Given the description of an element on the screen output the (x, y) to click on. 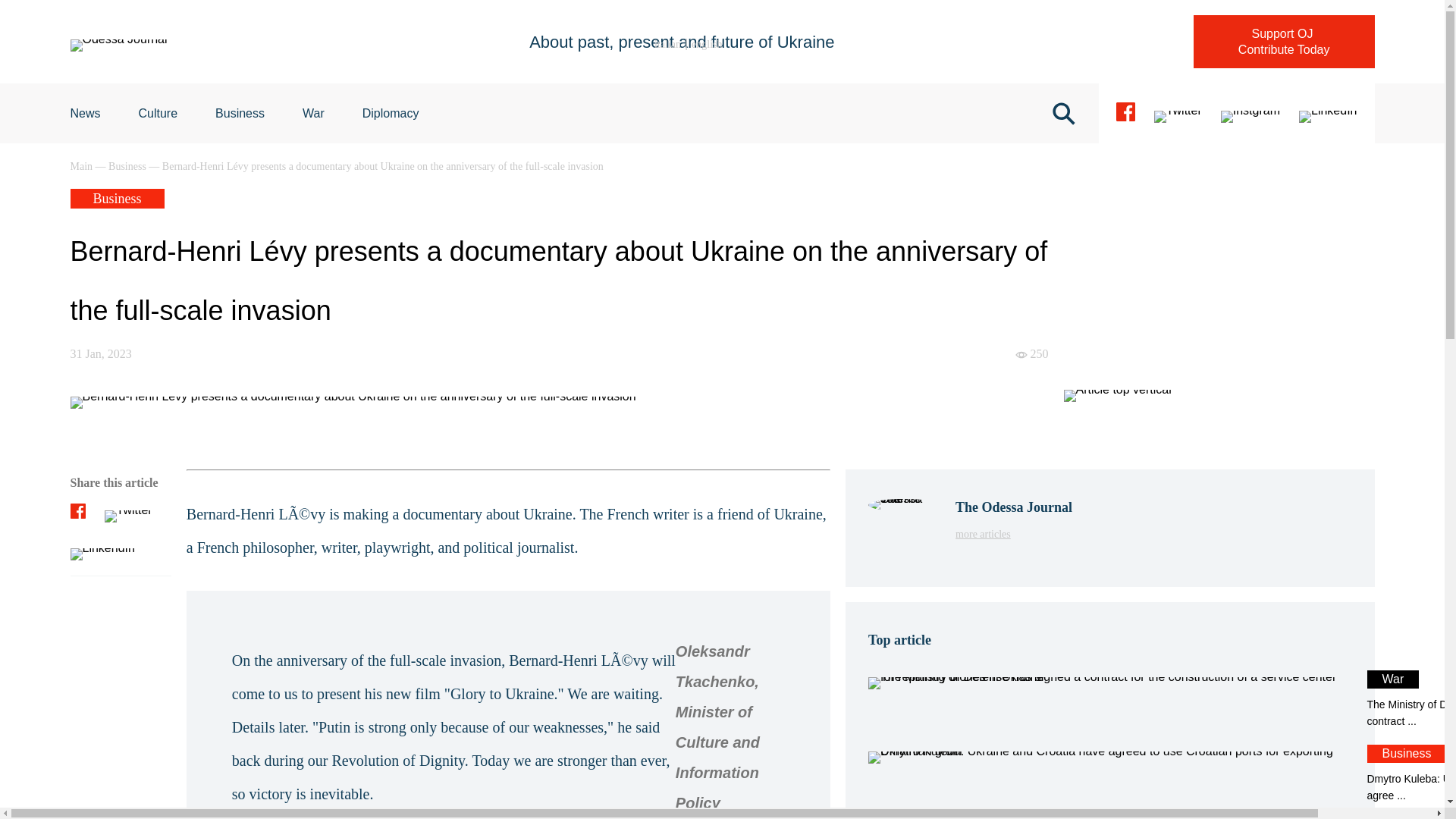
News (84, 113)
more articles (1013, 534)
Diplomacy (1109, 699)
Support (390, 113)
LinkedIn (1283, 41)
english (1327, 113)
News (706, 43)
Business (84, 113)
Twitter (239, 113)
War (1178, 113)
War (313, 113)
more articles (313, 113)
Instgram (1013, 534)
Read (1250, 113)
